Given the description of an element on the screen output the (x, y) to click on. 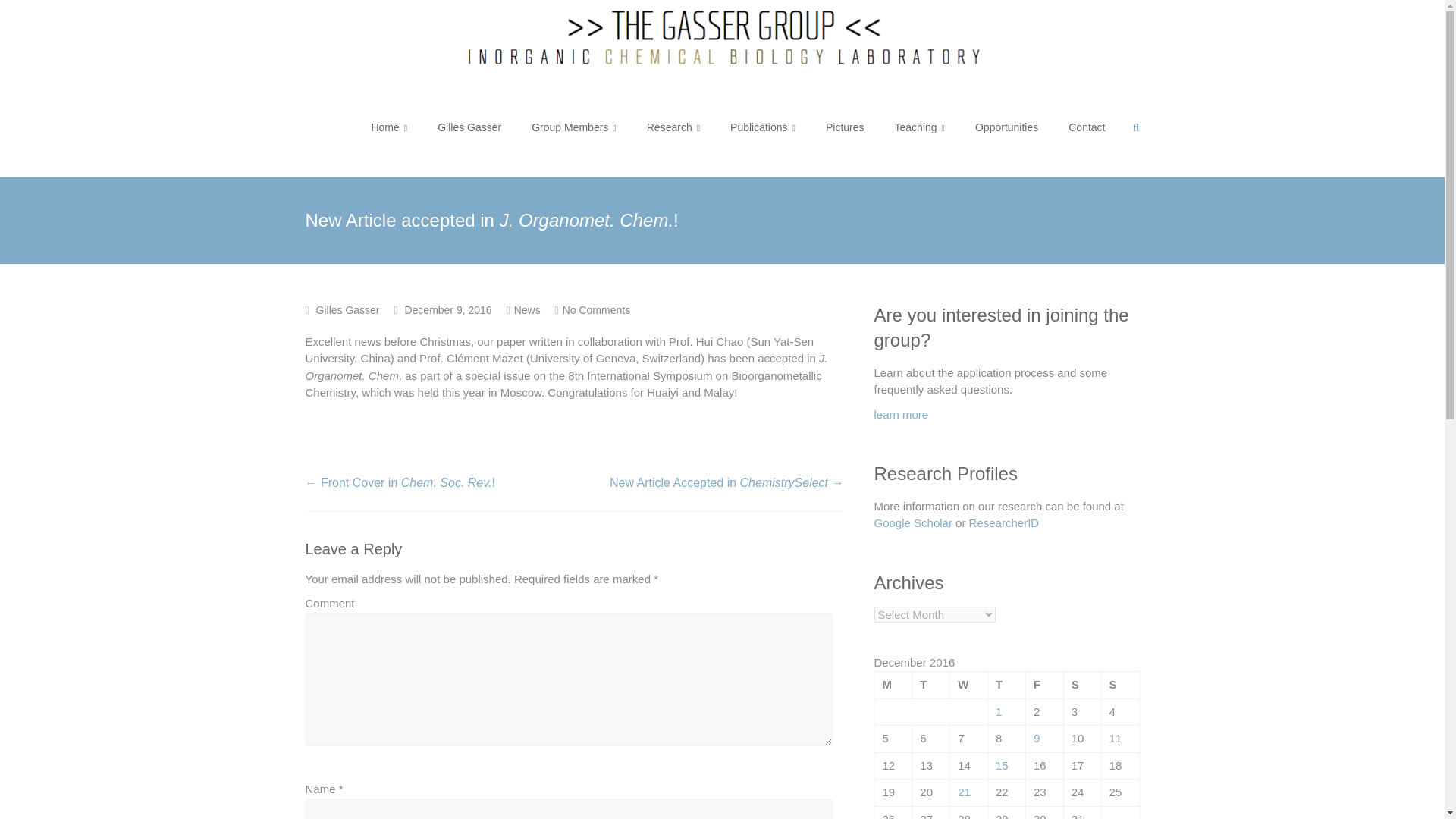
Opportunities (1006, 126)
Group Members (573, 126)
Tuesday (931, 685)
6:52 am (448, 309)
Saturday (1081, 685)
Gilles Gasser (347, 309)
No Comments (596, 309)
Wednesday (969, 685)
Teaching (919, 126)
Sunday (1119, 685)
